Given the description of an element on the screen output the (x, y) to click on. 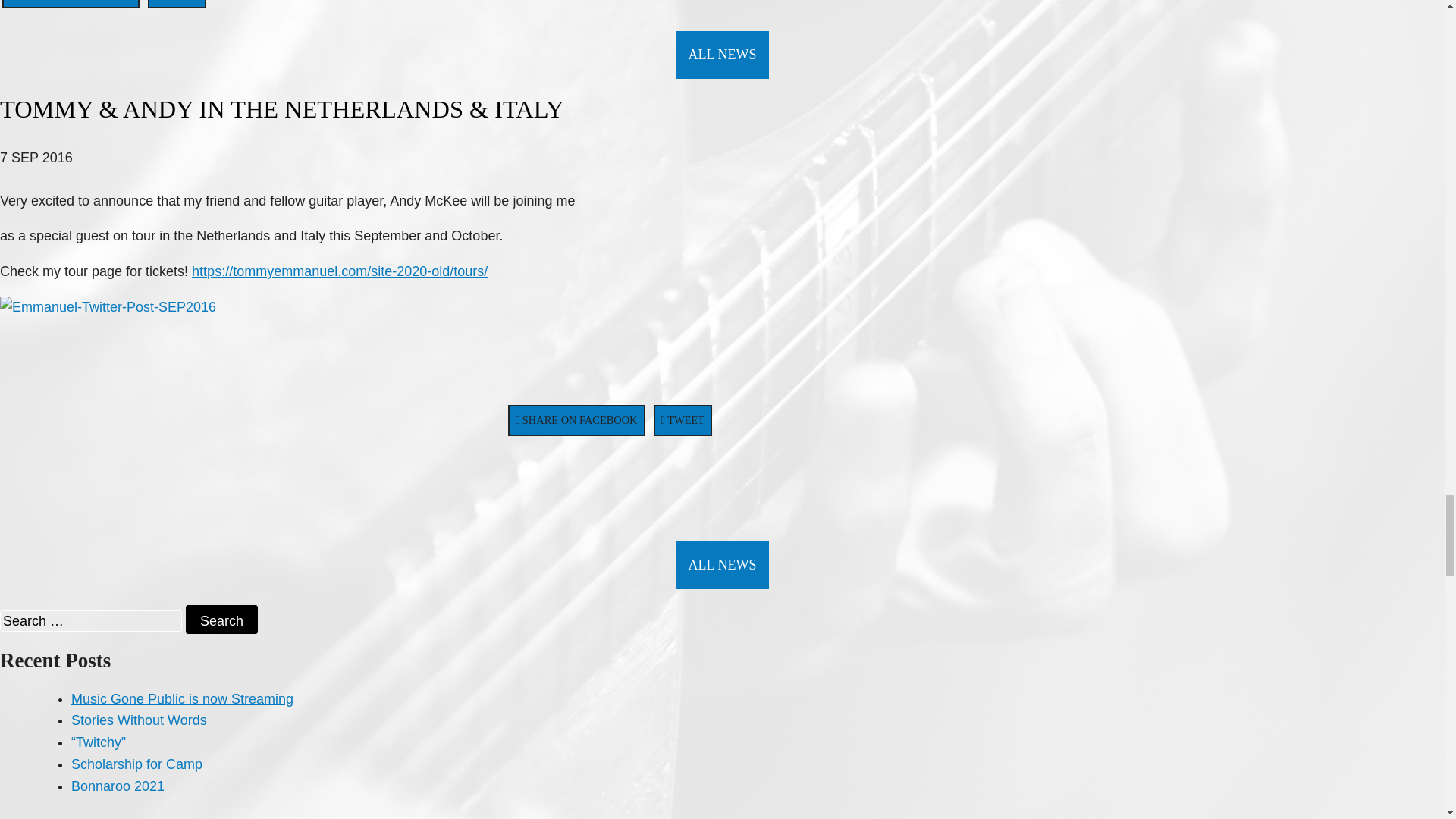
Search (221, 619)
Search (221, 619)
